Given the description of an element on the screen output the (x, y) to click on. 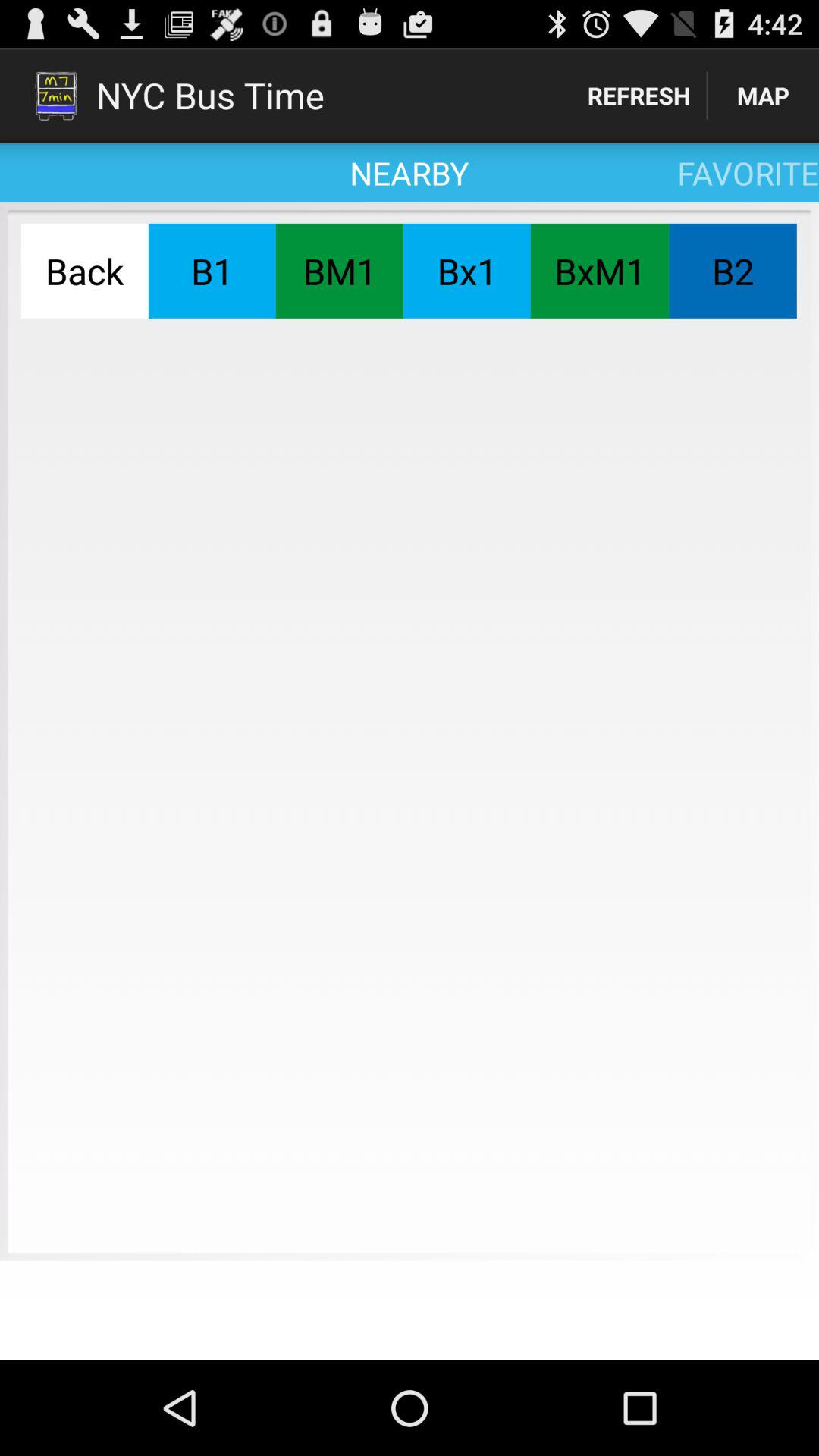
open the button next to the b2 button (599, 271)
